Given the description of an element on the screen output the (x, y) to click on. 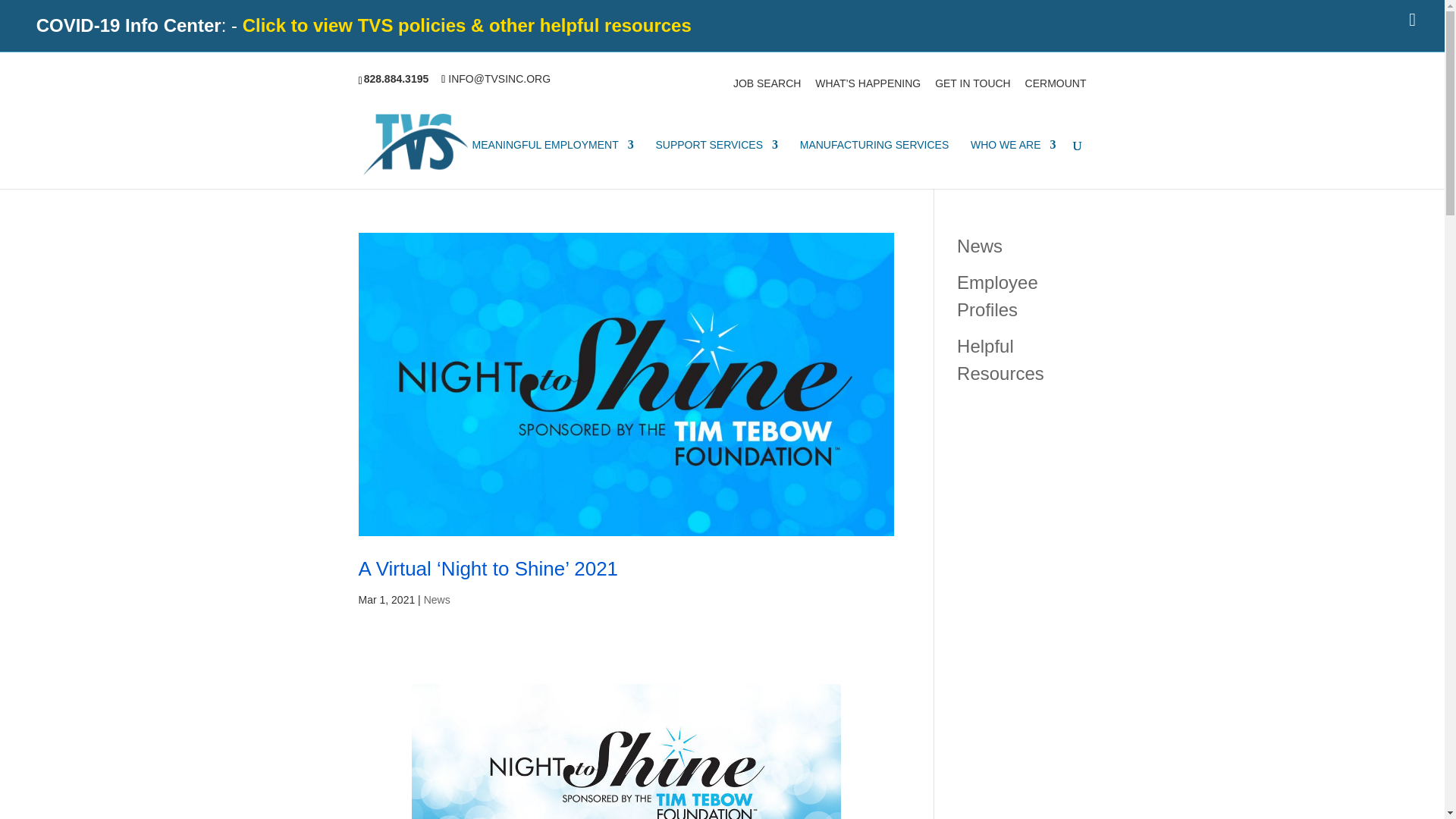
WHO WE ARE (1014, 164)
News (979, 245)
nighttoshine (626, 751)
Employee Profiles (997, 295)
MANUFACTURING SERVICES (874, 164)
GET IN TOUCH (972, 87)
SUPPORT SERVICES (716, 164)
MEANINGFUL EMPLOYMENT (552, 164)
News (436, 599)
CERMOUNT (1055, 87)
